Given the description of an element on the screen output the (x, y) to click on. 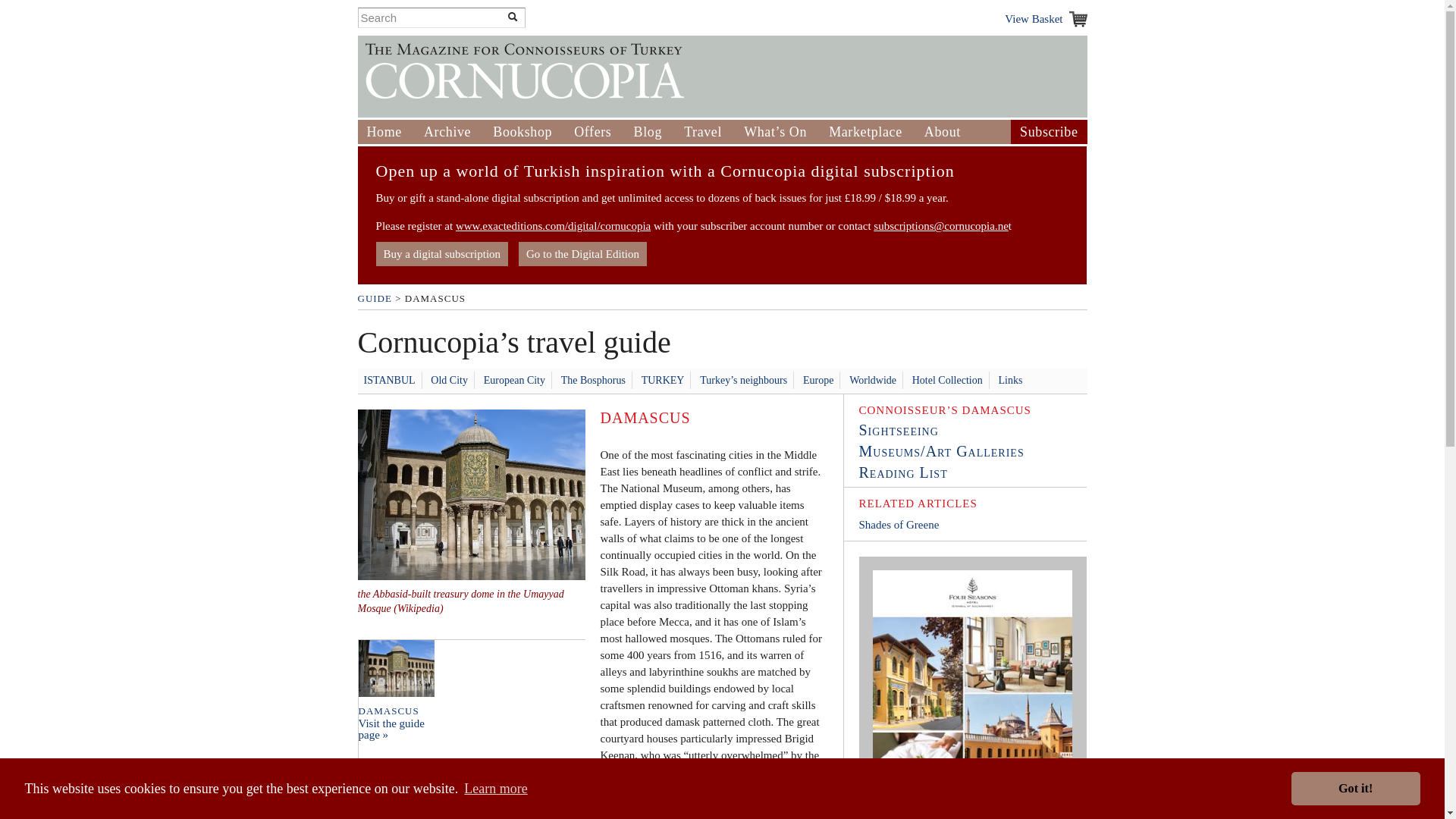
Go to the Digital Edition (582, 253)
Bookshop (522, 131)
Offers (592, 131)
Marketplace (865, 131)
Buy a digital subscription (441, 253)
View Basket (1045, 18)
Home (383, 131)
About (942, 131)
Got it! (1356, 788)
Learn more (496, 788)
Archive (446, 131)
Travel (703, 131)
Subscribe (1048, 131)
Blog (647, 131)
